Given the description of an element on the screen output the (x, y) to click on. 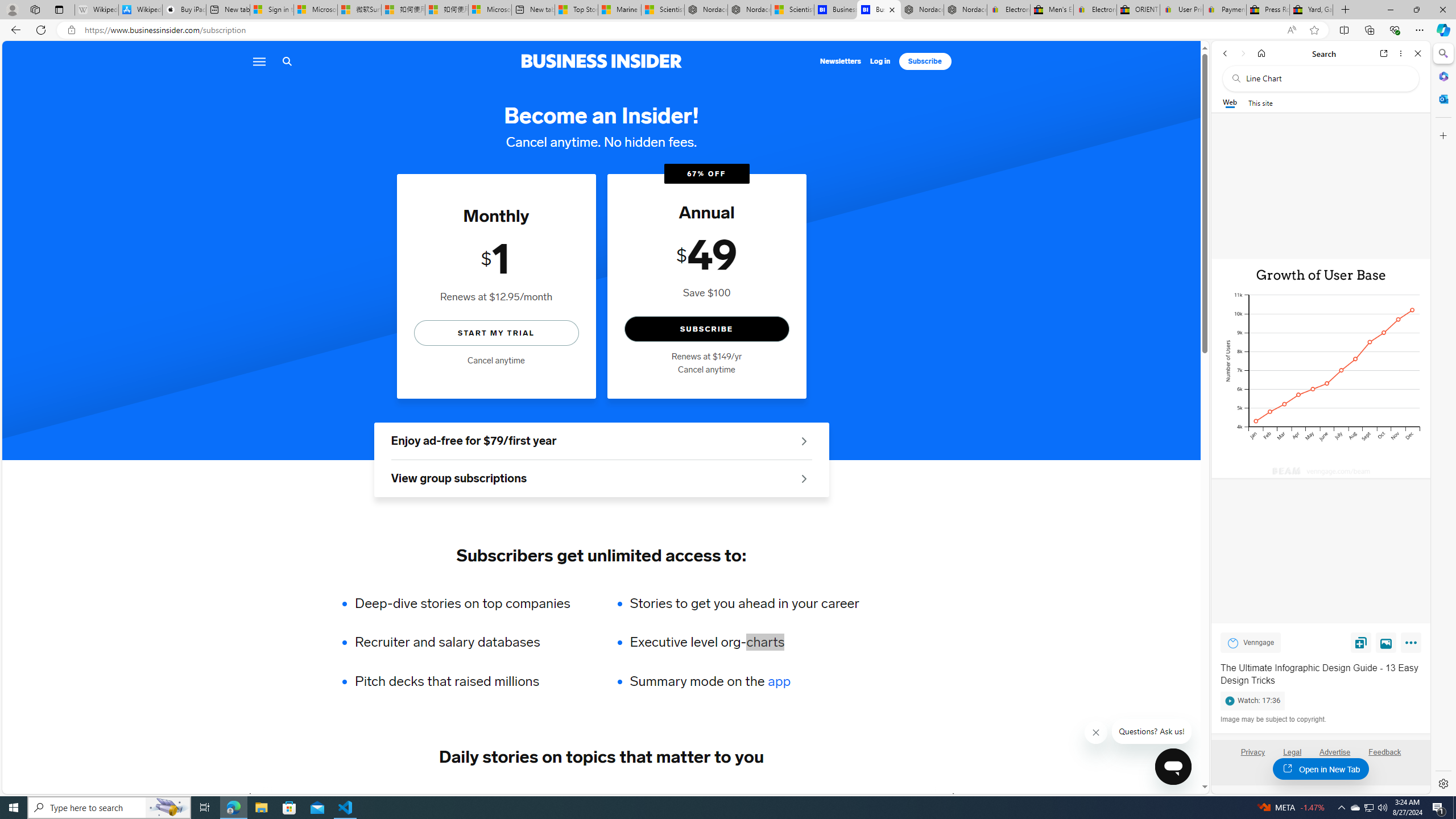
RETAIL (422, 796)
Questions? Ask us! (1152, 731)
Business Insider logo (601, 60)
Executive level org-charts (743, 642)
